Given the description of an element on the screen output the (x, y) to click on. 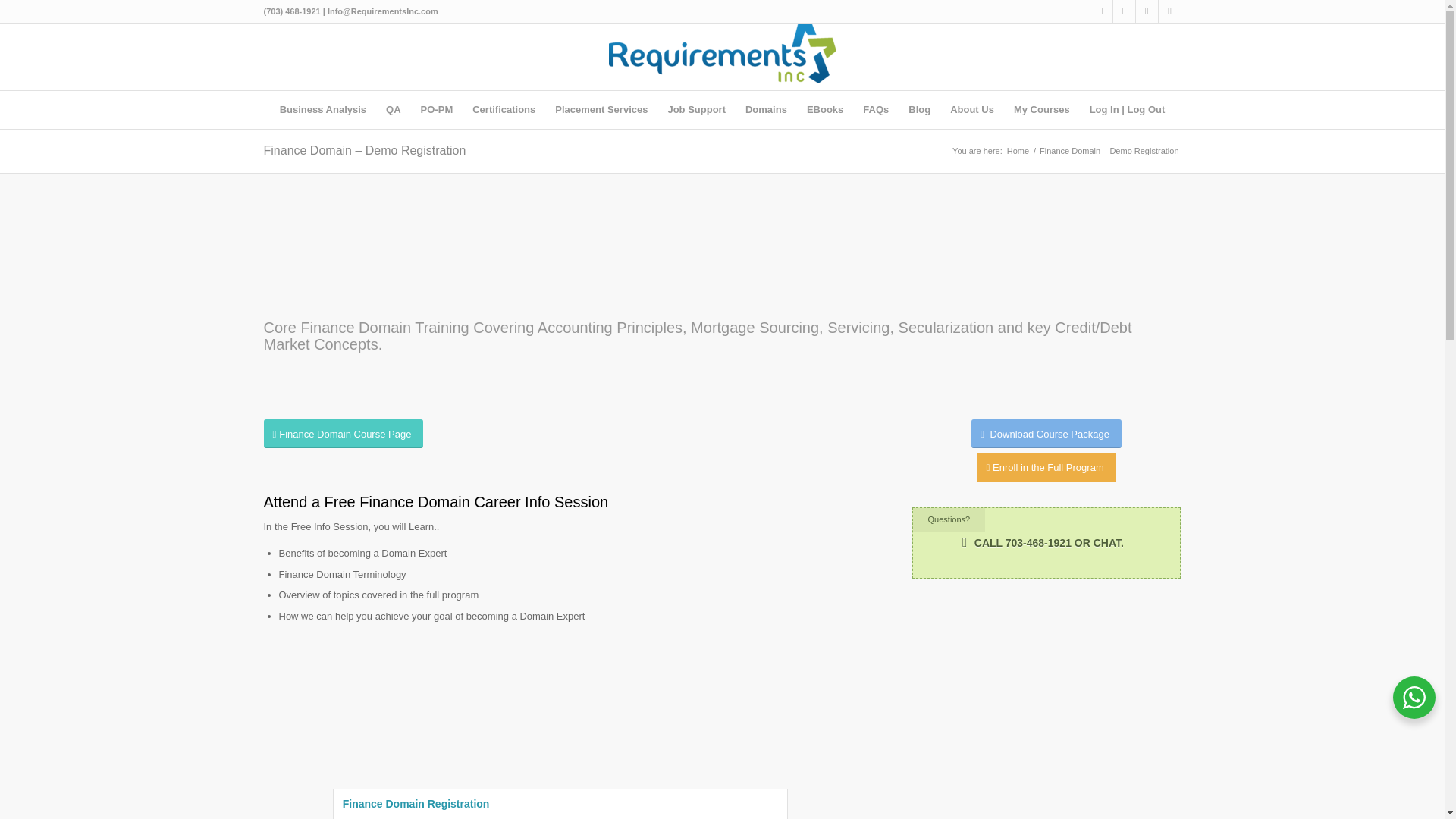
Requirements Inc (1017, 151)
Twitter (1124, 11)
Rss (1146, 11)
Facebook (1101, 11)
Job Support (696, 109)
EBooks (824, 109)
Domains (765, 109)
PO-PM (436, 109)
Placement Services (601, 109)
QA (392, 109)
